Given the description of an element on the screen output the (x, y) to click on. 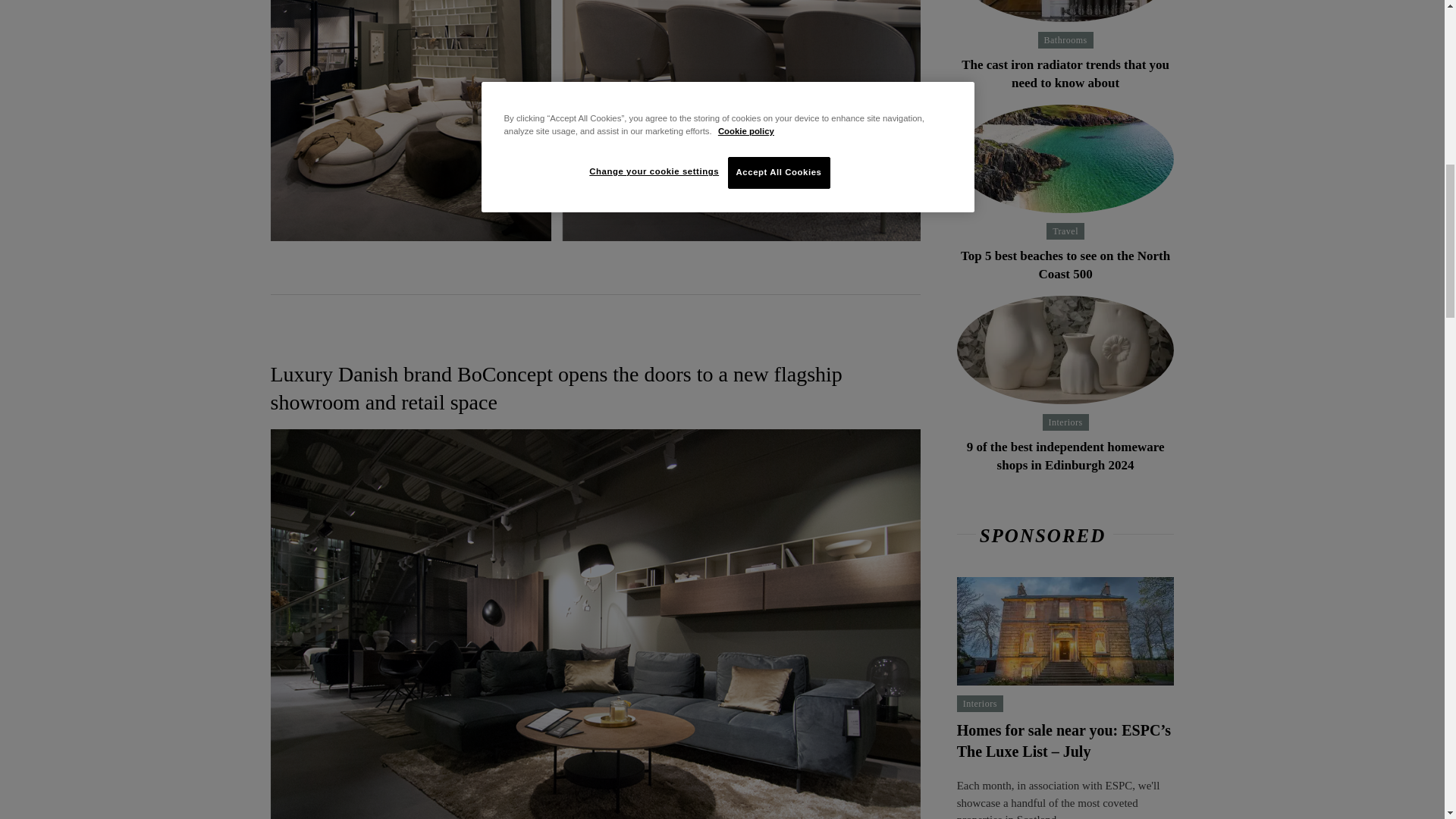
Top 5 best beaches to see on the North Coast 500 (1065, 264)
The cast iron radiator trends that you need to know about (1065, 11)
Top 5 best beaches to see on the North Coast 500 (1065, 158)
9 of the best independent homeware shops in Edinburgh 2024 (1065, 455)
The cast iron radiator trends that you need to know about (1064, 73)
9 of the best independent homeware shops in Edinburgh 2024 (1065, 349)
